Given the description of an element on the screen output the (x, y) to click on. 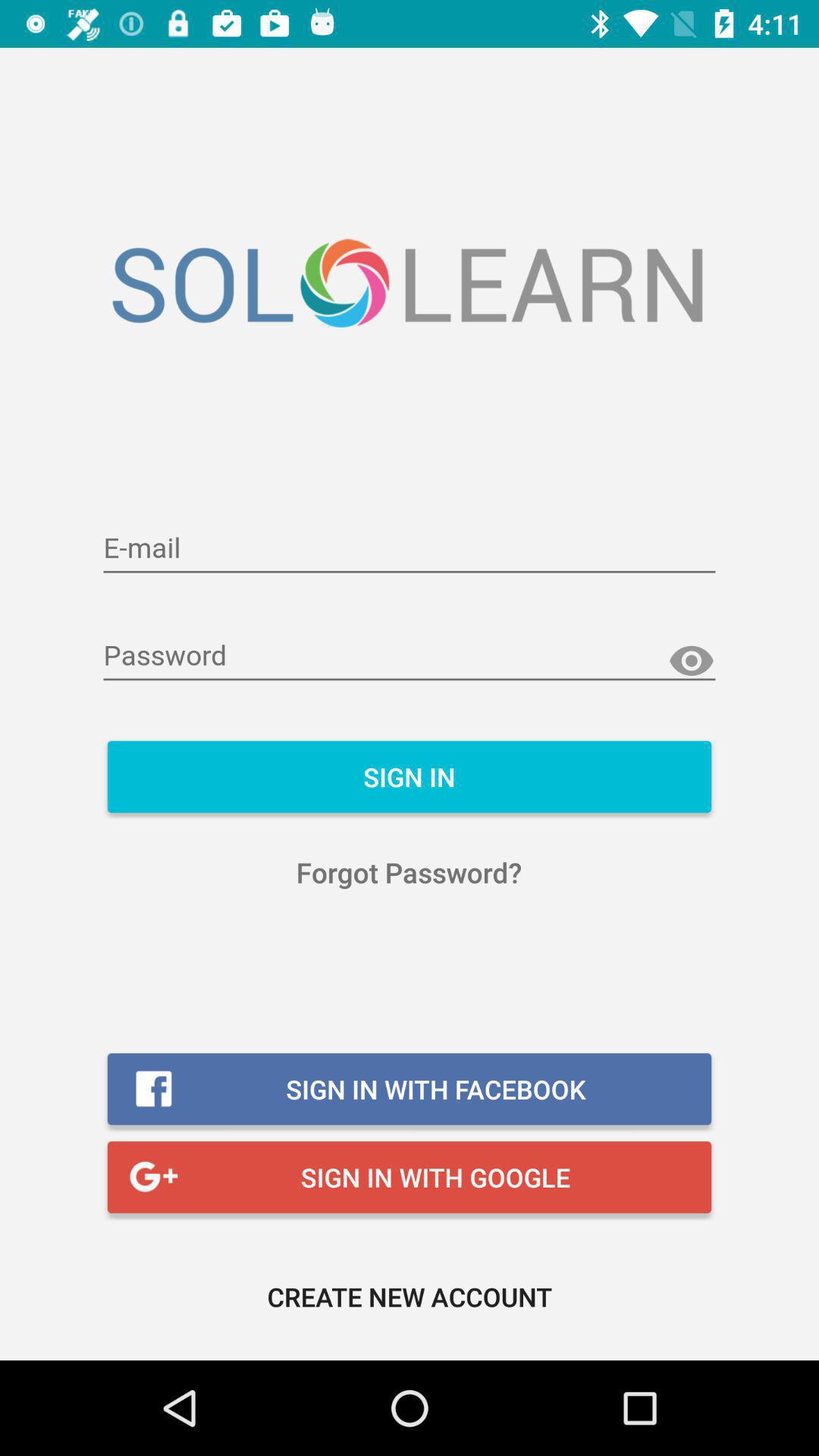
click item below sign in icon (409, 872)
